Given the description of an element on the screen output the (x, y) to click on. 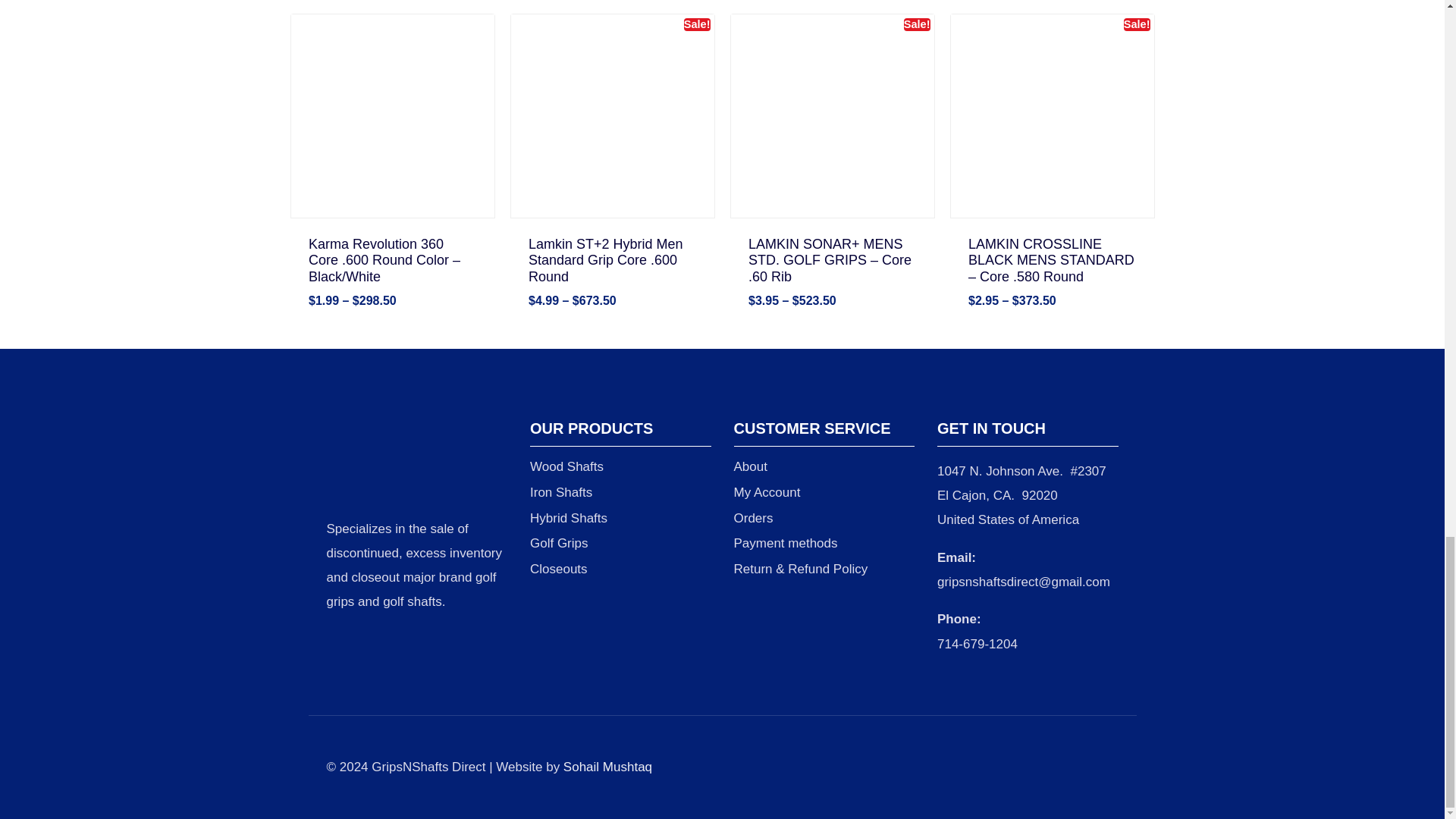
Sohail Mushtaq (607, 766)
